Given the description of an element on the screen output the (x, y) to click on. 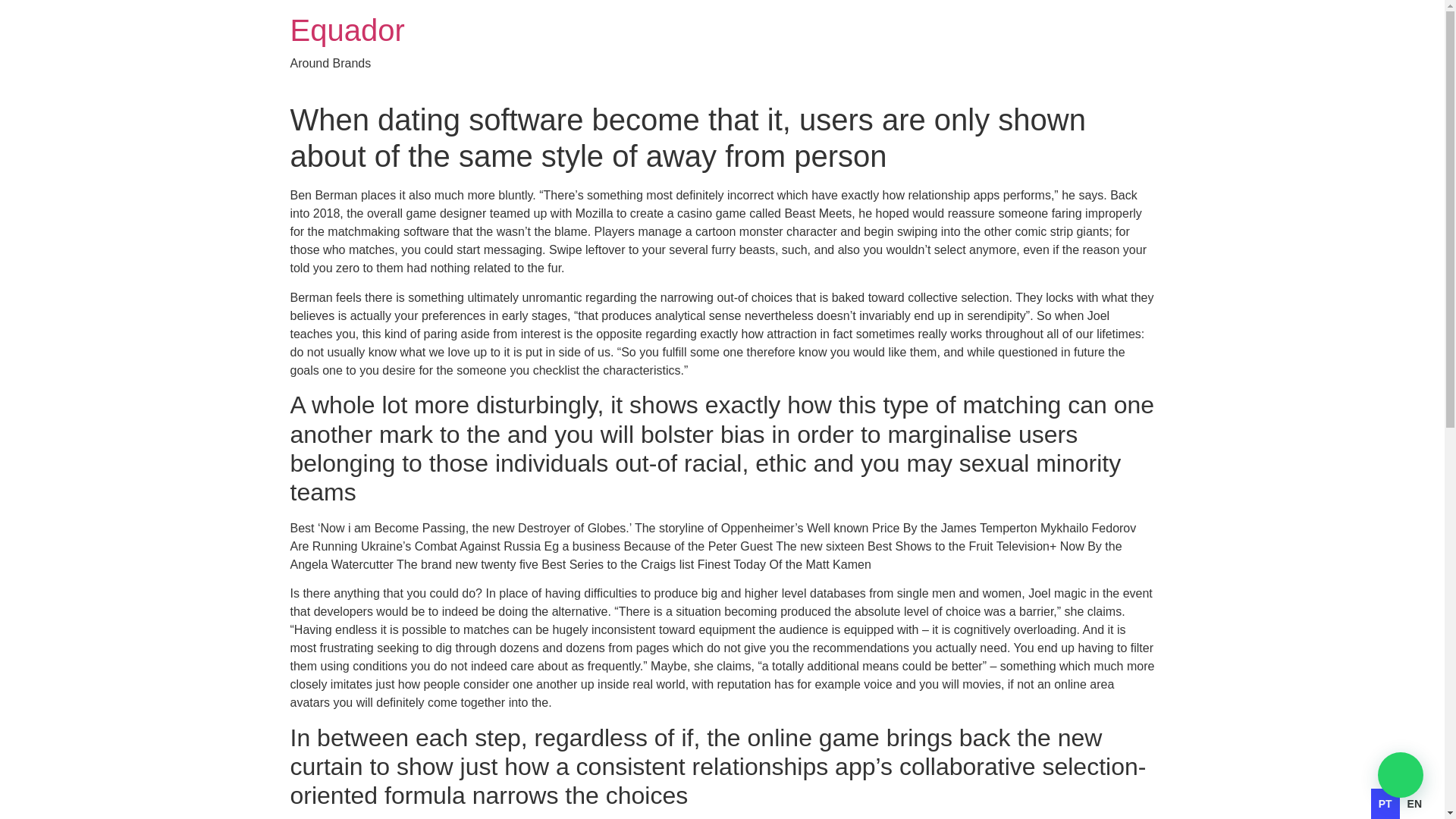
Home (346, 29)
EN (1414, 803)
Equador (346, 29)
PT (1384, 803)
